Given the description of an element on the screen output the (x, y) to click on. 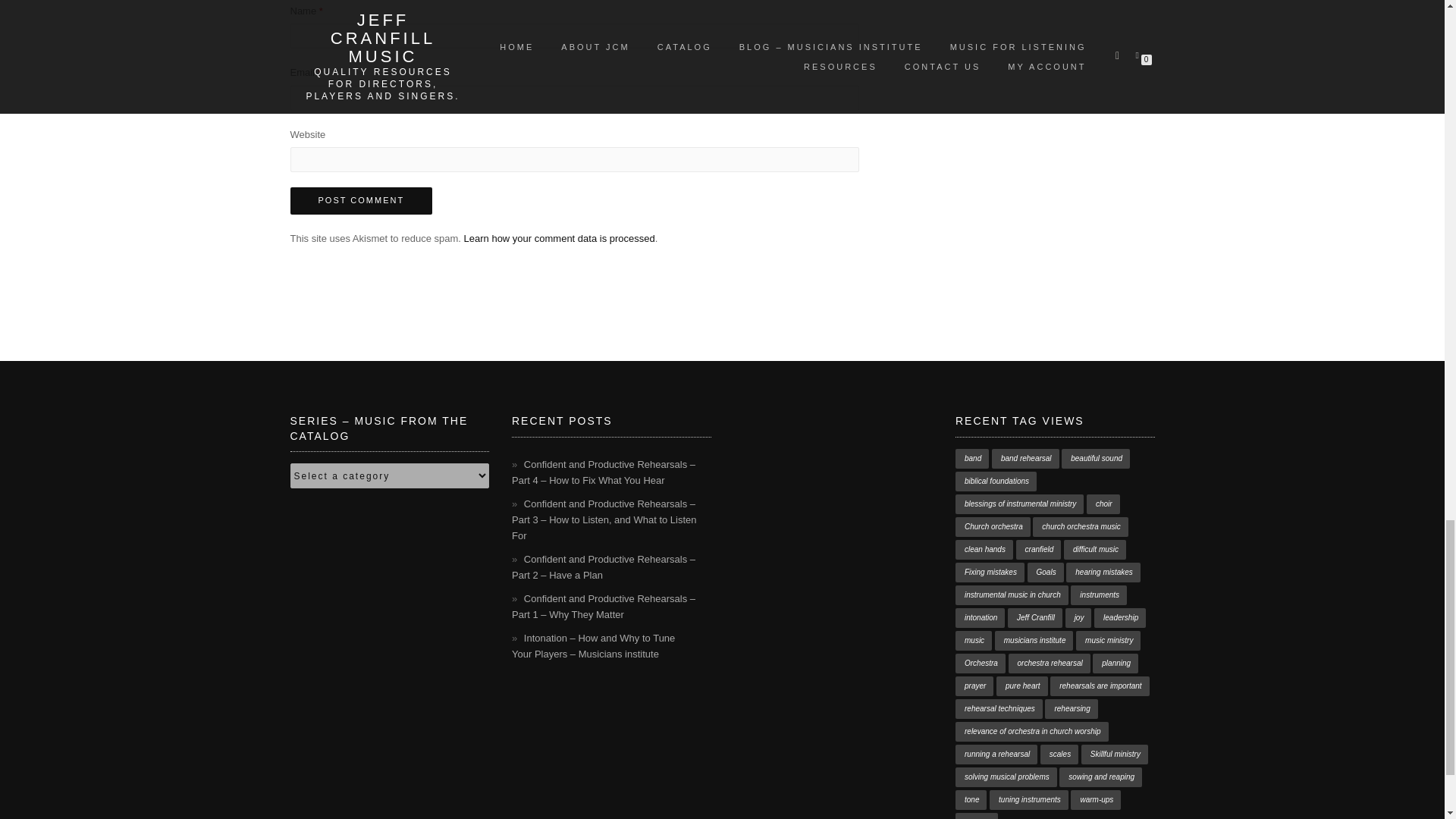
Post Comment (360, 200)
Learn how your comment data is processed (559, 238)
Post Comment (360, 200)
